Given the description of an element on the screen output the (x, y) to click on. 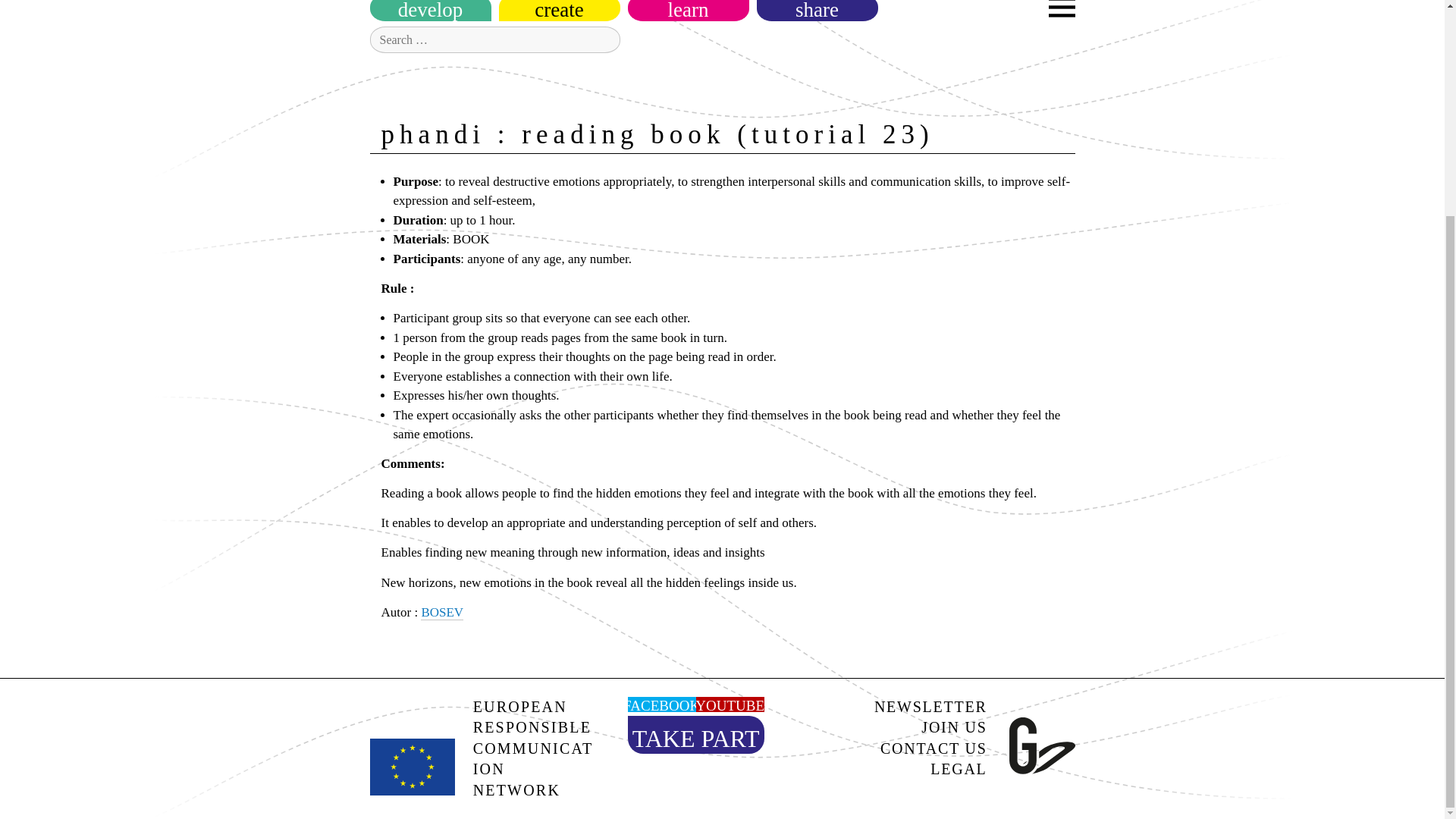
share (817, 9)
create (559, 9)
TAKE PART (695, 738)
develop (430, 9)
FACEBOOK (661, 705)
JOIN US (926, 727)
CONTACT US (926, 749)
YOUTUBE (729, 705)
learn (688, 9)
NEWSLETTER (926, 707)
BOSEV (441, 612)
EUROPEAN RESPONSIBLE COMMUNICATION NETWORK (481, 790)
